Given the description of an element on the screen output the (x, y) to click on. 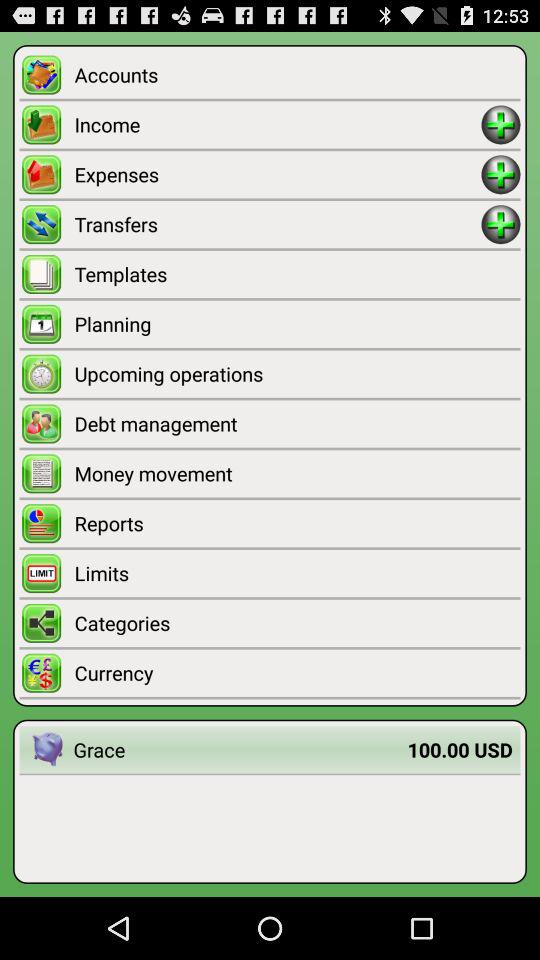
expand (500, 223)
